Given the description of an element on the screen output the (x, y) to click on. 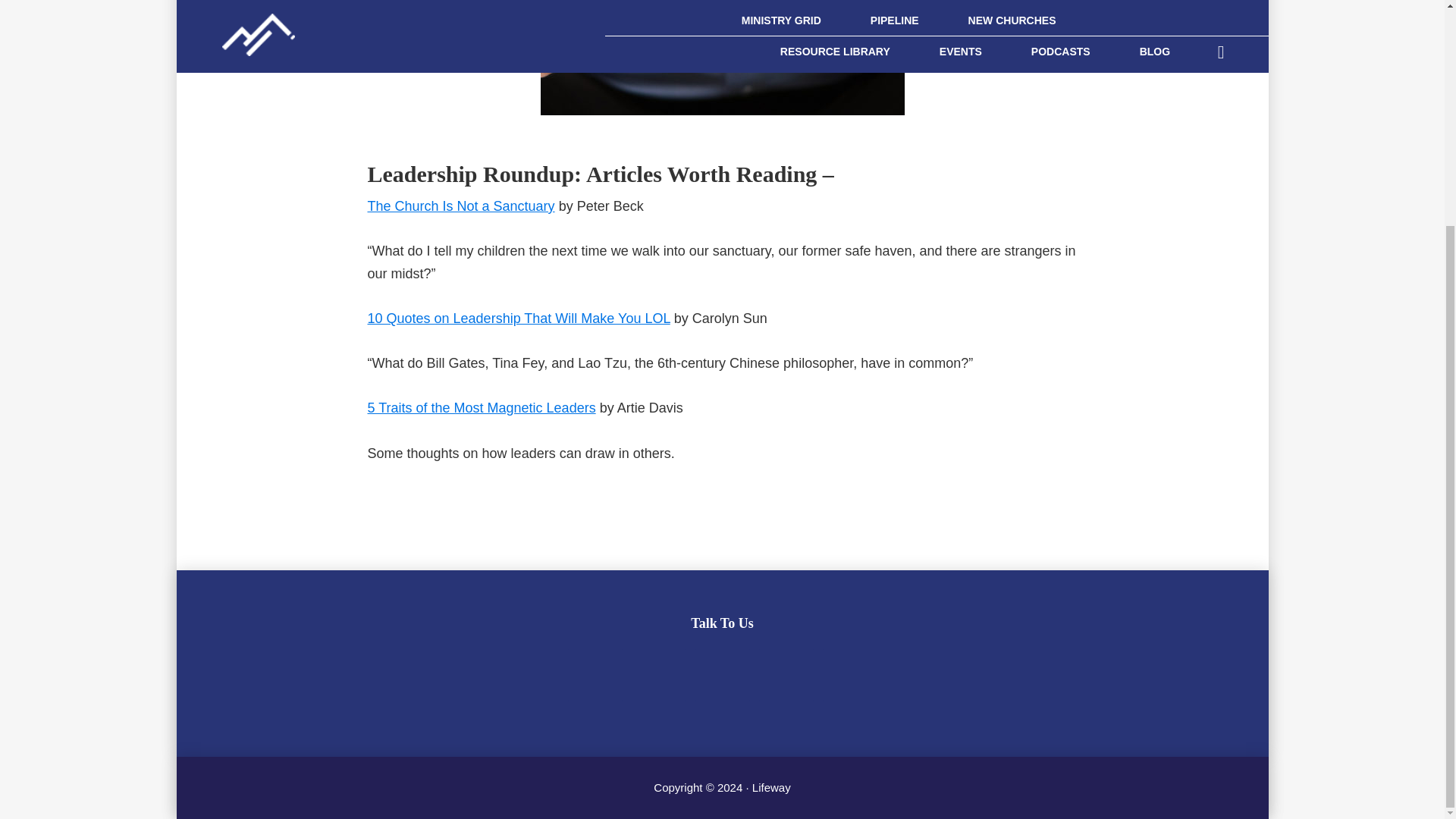
10 Quotes on Leadership That Will Make You LOL (517, 318)
The Church Is Not a Sanctuary (460, 206)
5 Traits of the Most Magnetic Leaders (480, 407)
